Given the description of an element on the screen output the (x, y) to click on. 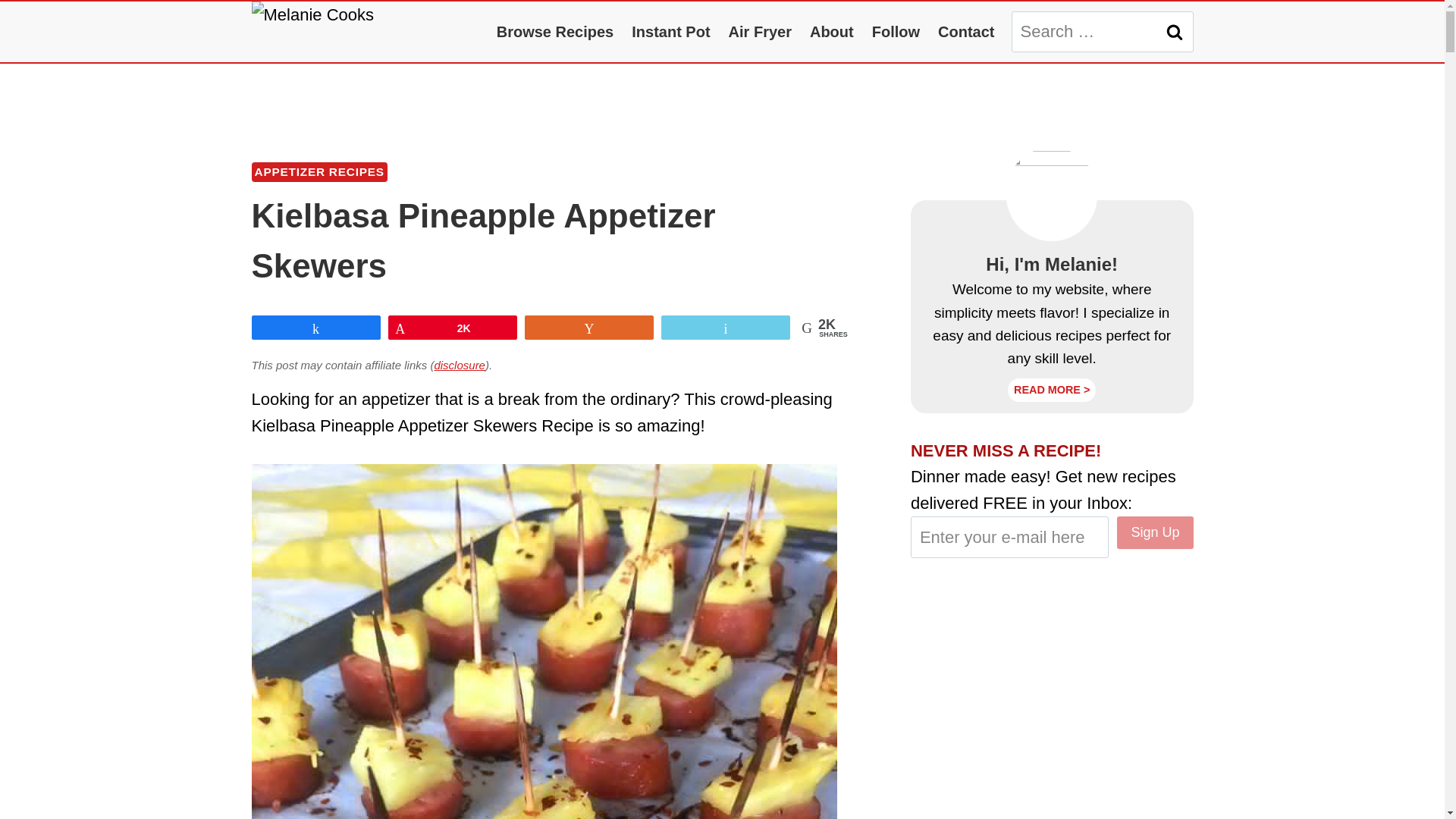
APPETIZER RECIPES (319, 171)
Search (1174, 32)
Air Fryer (759, 31)
disclosure (458, 364)
Follow (895, 31)
About (831, 31)
Search (1174, 32)
Browse Recipes (555, 31)
2K (452, 327)
Contact (965, 31)
Sign Up (1154, 532)
Instant Pot (671, 31)
Search (1174, 32)
Enter your e-mail here (1010, 536)
